Given the description of an element on the screen output the (x, y) to click on. 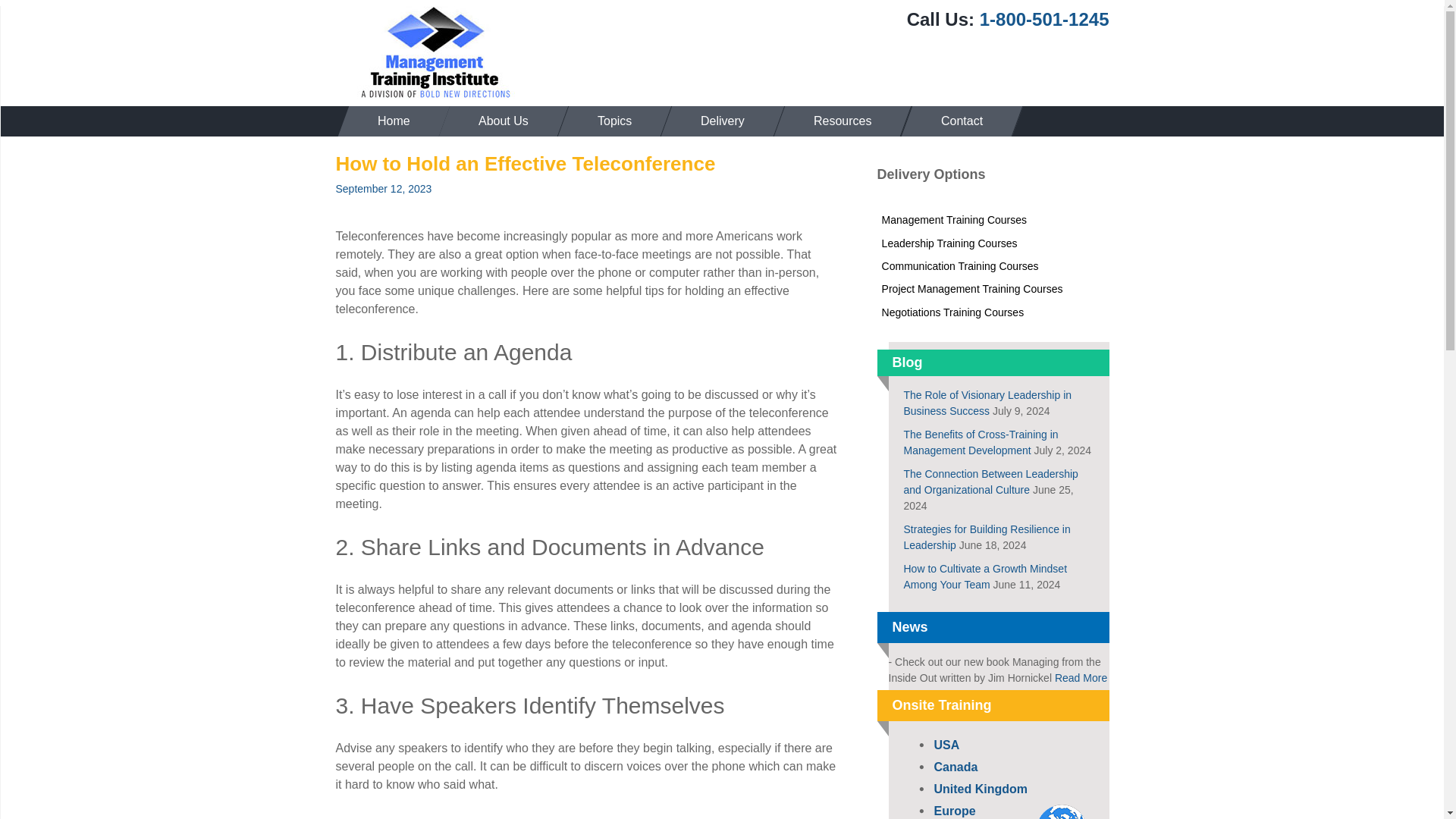
Permalink to How to Hold an Effective Teleconference (382, 188)
About Us (498, 121)
Management Training Institute (434, 51)
Europe (954, 810)
Canada (956, 766)
United Kingdom (980, 788)
Home (387, 121)
1-800-501-1245 (1044, 19)
Resources (836, 121)
Management Training Institute (433, 51)
Topics (609, 121)
USA (946, 744)
Delivery (717, 121)
